Given the description of an element on the screen output the (x, y) to click on. 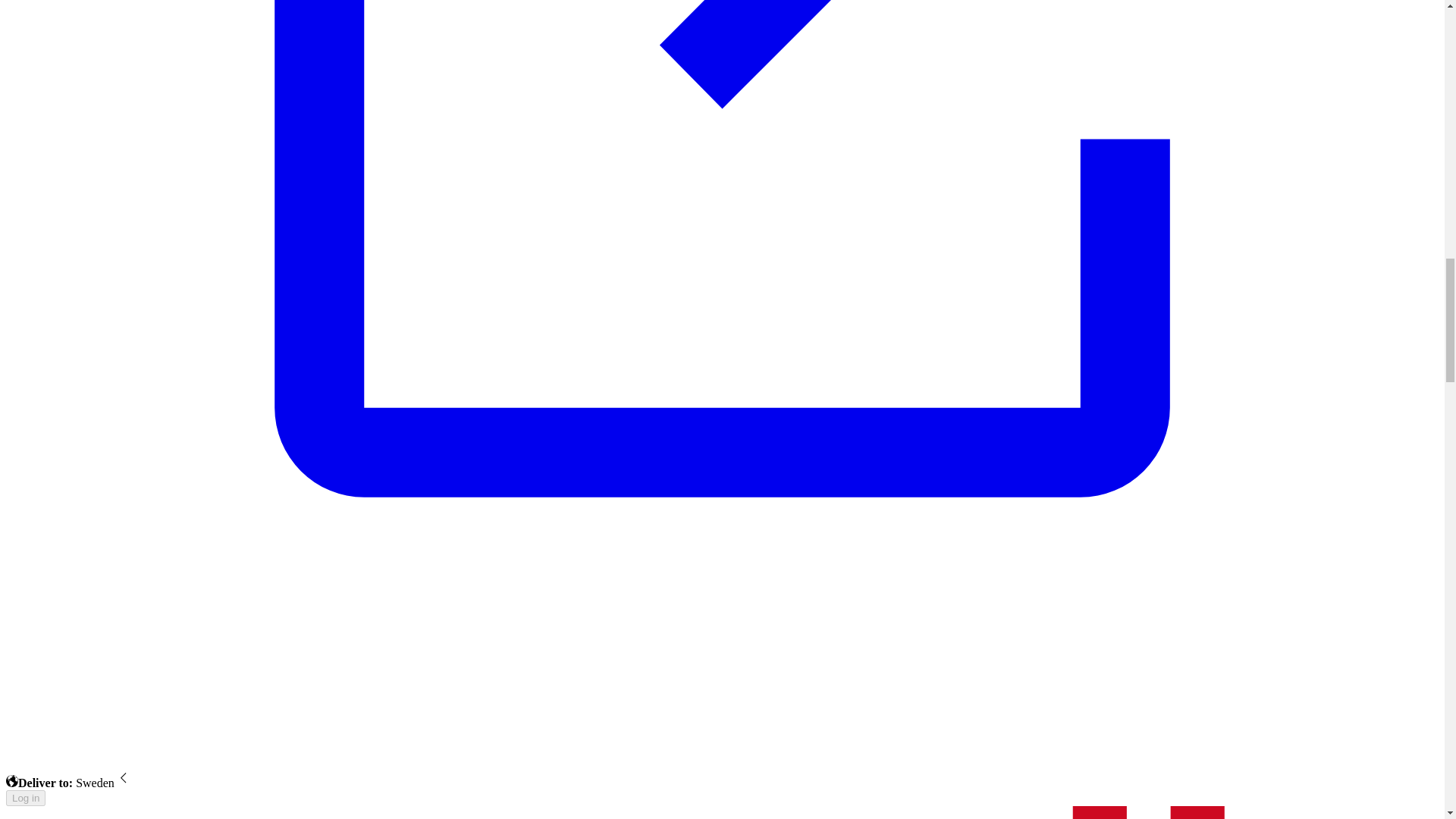
Log in (25, 797)
